Given the description of an element on the screen output the (x, y) to click on. 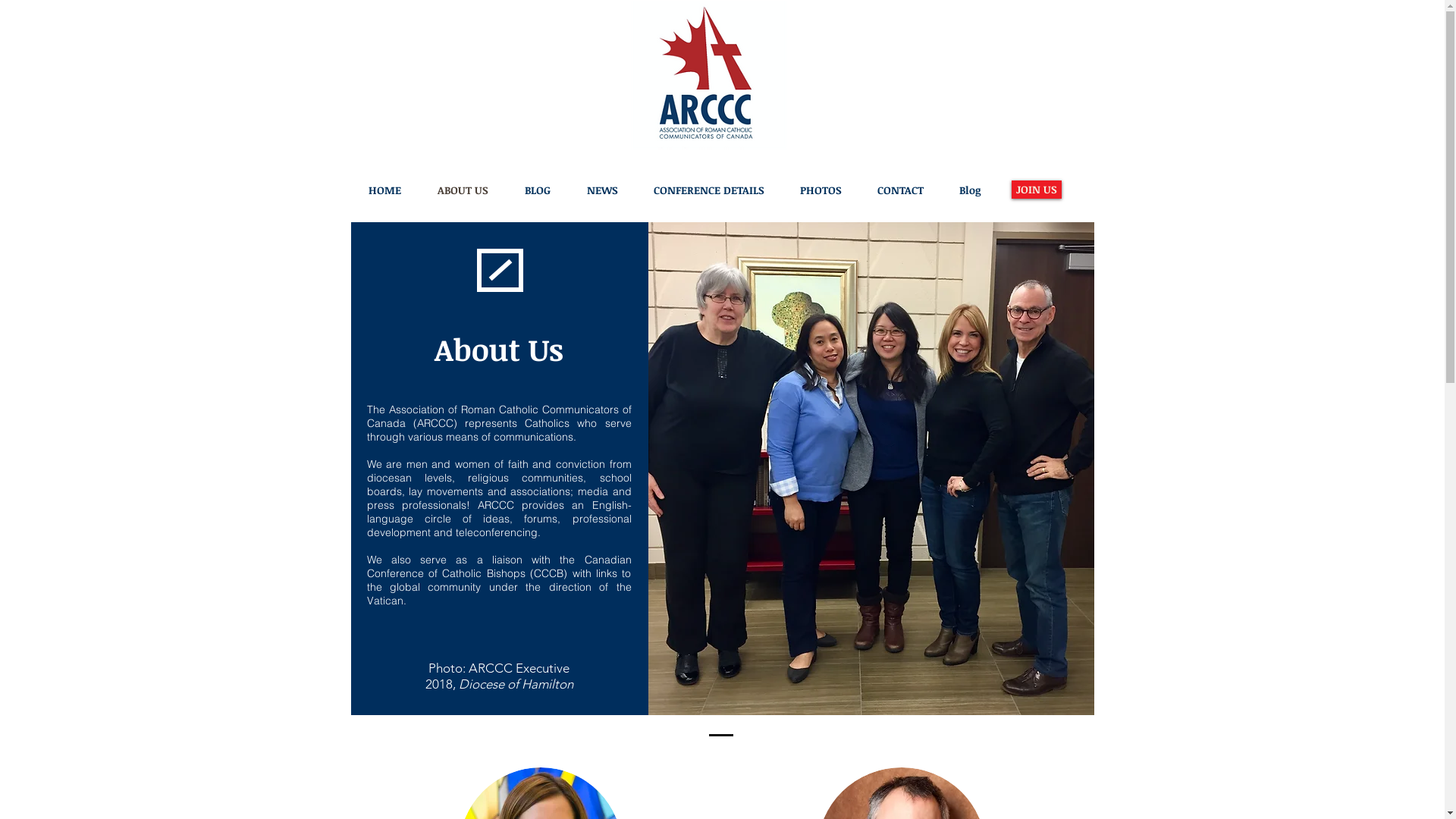
NEWS Element type: text (601, 189)
ABOUT US Element type: text (463, 189)
BLOG Element type: text (536, 189)
PHOTOS Element type: text (820, 189)
JOIN US Element type: text (1036, 189)
Blog Element type: text (969, 189)
CONTACT Element type: text (900, 189)
CONFERENCE DETAILS Element type: text (708, 189)
HOME Element type: text (384, 189)
